Given the description of an element on the screen output the (x, y) to click on. 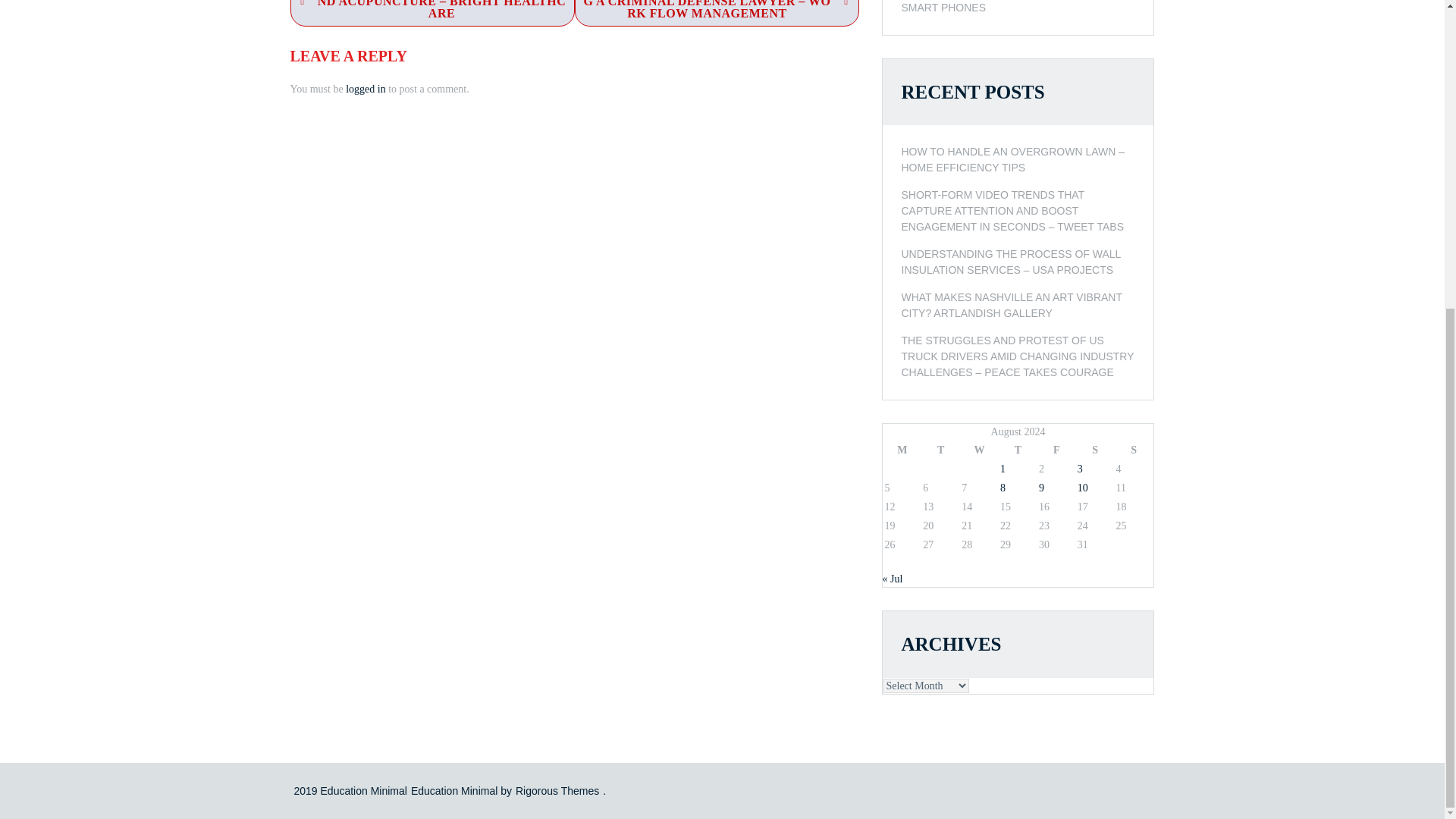
10 (1082, 487)
Thursday (1017, 449)
logged in (365, 89)
Saturday (1095, 449)
Monday (902, 449)
Tuesday (940, 449)
Rigorous Themes (556, 789)
Friday (1056, 449)
SMART MARKETING FOR SMART PHONES (1017, 6)
WHAT MAKES NASHVILLE AN ART VIBRANT CITY? ARTLANDISH GALLERY (1017, 305)
